Given the description of an element on the screen output the (x, y) to click on. 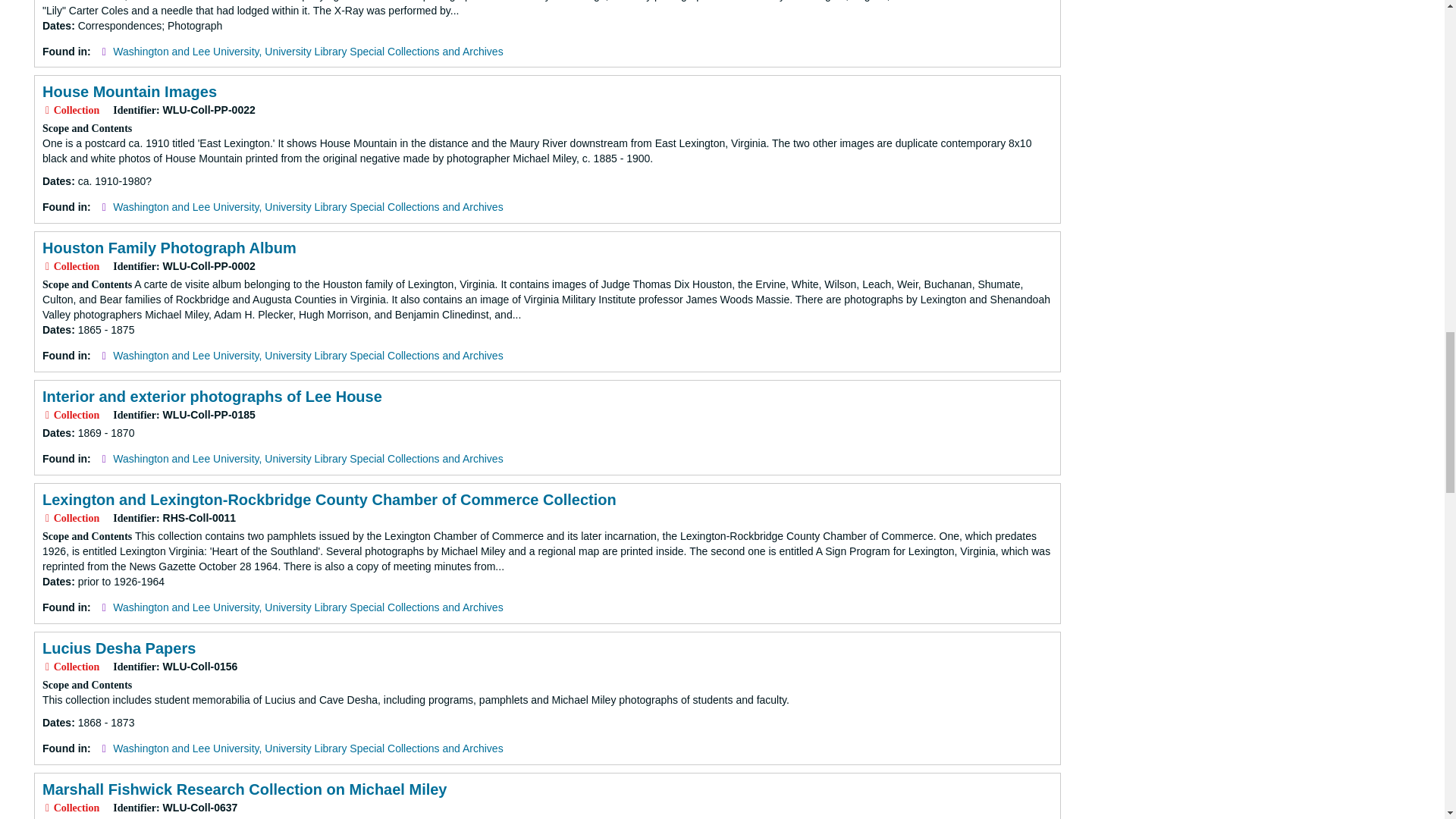
Houston Family Photograph Album (169, 247)
House Mountain Images (129, 91)
